Given the description of an element on the screen output the (x, y) to click on. 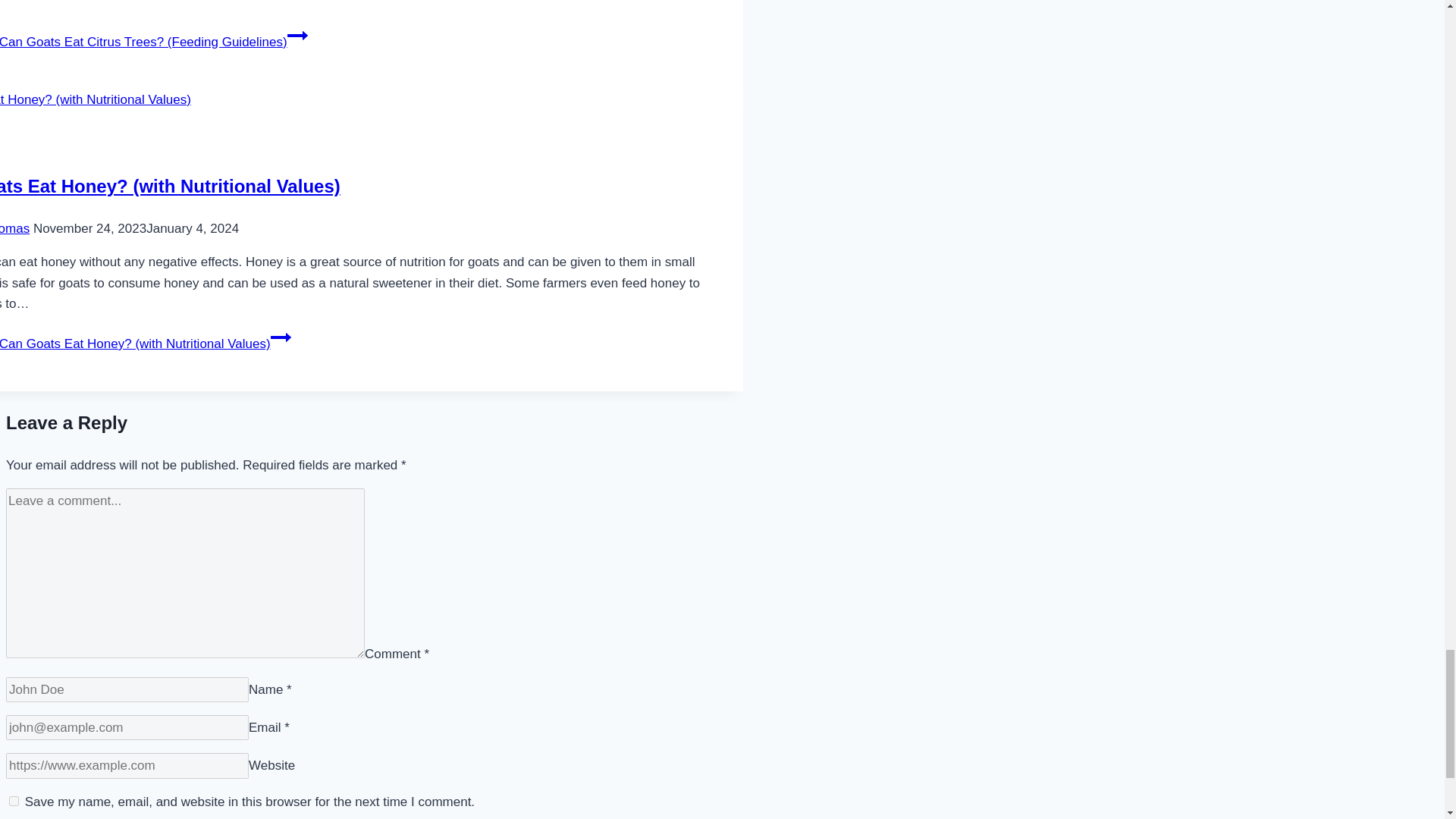
Continue (296, 35)
Continue (280, 337)
yes (13, 800)
